Given the description of an element on the screen output the (x, y) to click on. 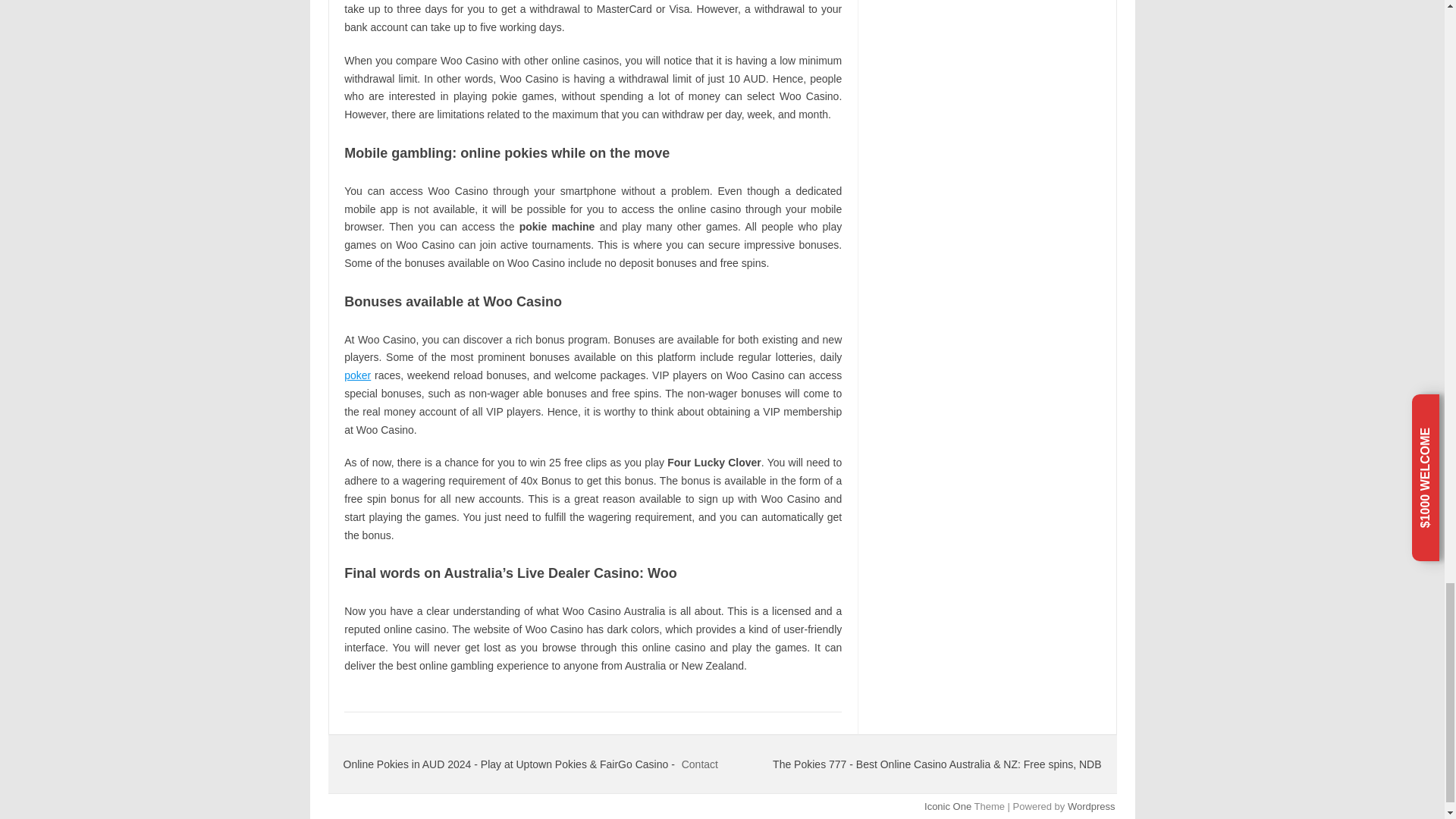
poker (357, 375)
